Given the description of an element on the screen output the (x, y) to click on. 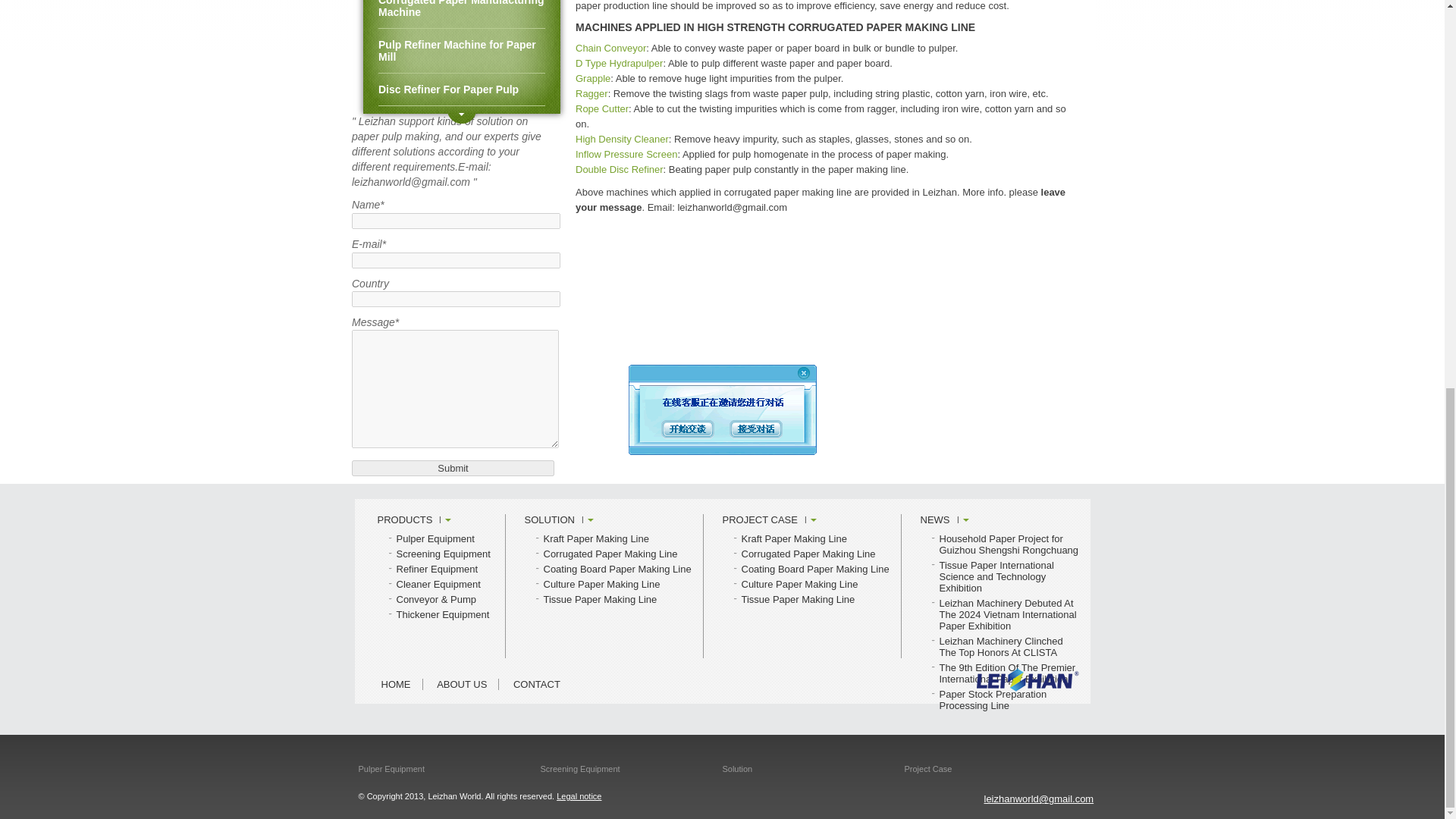
Submit (453, 467)
Corrugated Paper Manufacturing Machine (461, 14)
Disc Refiner For Paper Pulp (461, 89)
Chain Conveyor (610, 48)
Pulp Refiner Machine for Paper Mill (461, 50)
Submit (453, 467)
